Given the description of an element on the screen output the (x, y) to click on. 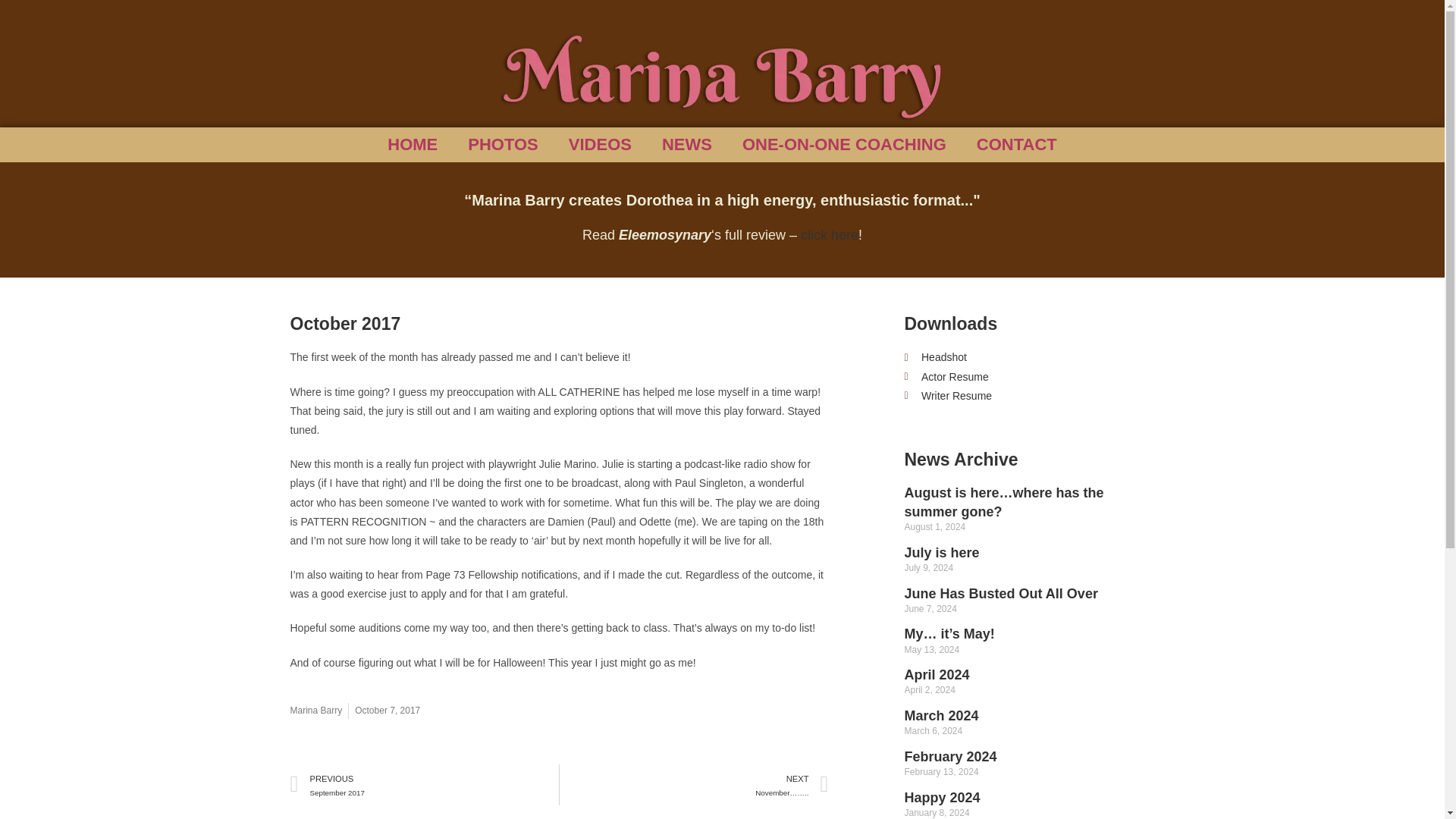
NEWS (686, 144)
June Has Busted Out All Over (1000, 593)
April 2024 (936, 674)
ONE-ON-ONE COACHING (424, 784)
March 2024 (843, 144)
Happy 2024 (941, 715)
CONTACT (941, 797)
Writer Resume (1015, 144)
VIDEOS (1028, 395)
